Given the description of an element on the screen output the (x, y) to click on. 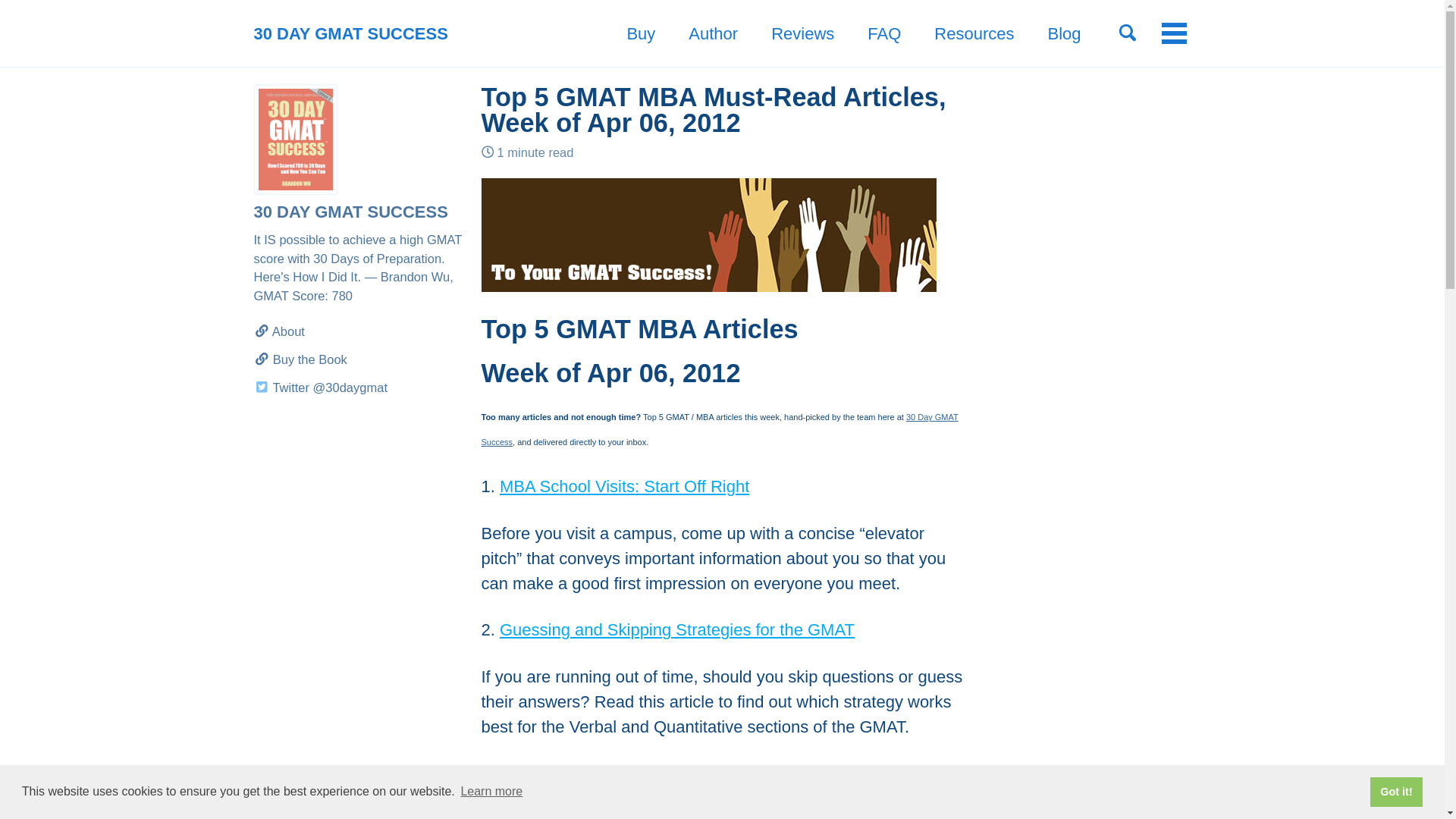
Author Element type: text (712, 33)
Toggle Menu Element type: text (1174, 33)
30 DAY GMAT SUCCESS Element type: text (350, 33)
Guessing and Skipping Strategies for the GMAT Element type: text (676, 629)
FAQ Element type: text (883, 33)
Got it! Element type: text (1396, 791)
MBA School Visits: Start Off Right Element type: text (624, 485)
Reviews Element type: text (802, 33)
Resources Element type: text (973, 33)
Buy the Book Element type: text (358, 359)
Blog Element type: text (1063, 33)
About Element type: text (358, 331)
30 Day GMAT Success Element type: text (718, 429)
Critical Thinking Does Not Equal GMAT Critical Reasoning Element type: text (715, 772)
Learn more Element type: text (491, 791)
Twitter @30daygmat Element type: text (358, 387)
Buy Element type: text (640, 33)
